Given the description of an element on the screen output the (x, y) to click on. 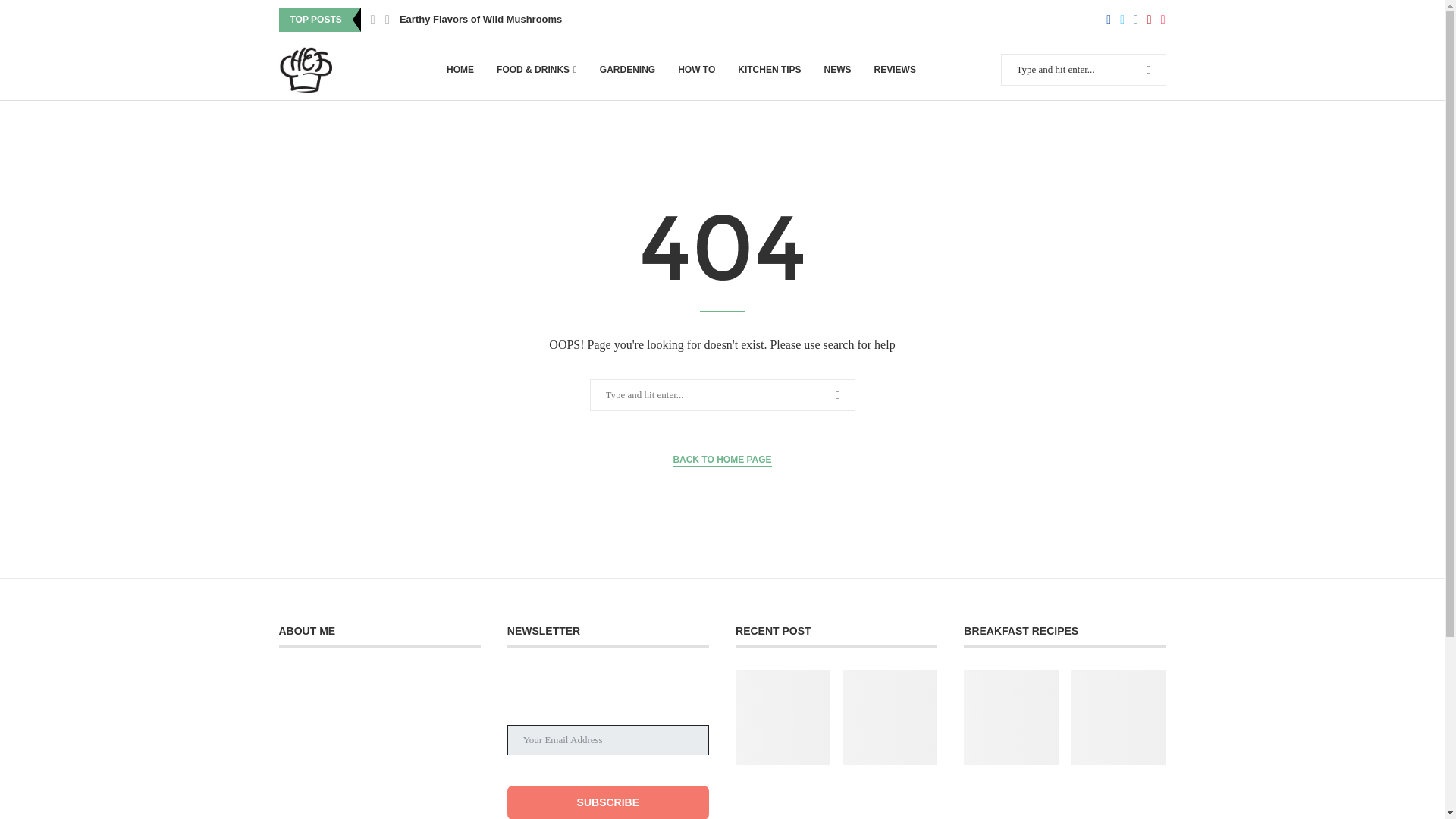
8 Best Air Fryer Egg Recipes You Would Love (1010, 798)
8 Best Air Fryer Egg Recipes You Would Love (1010, 717)
Earthy Flavors of Wild Mushrooms (480, 19)
